Given the description of an element on the screen output the (x, y) to click on. 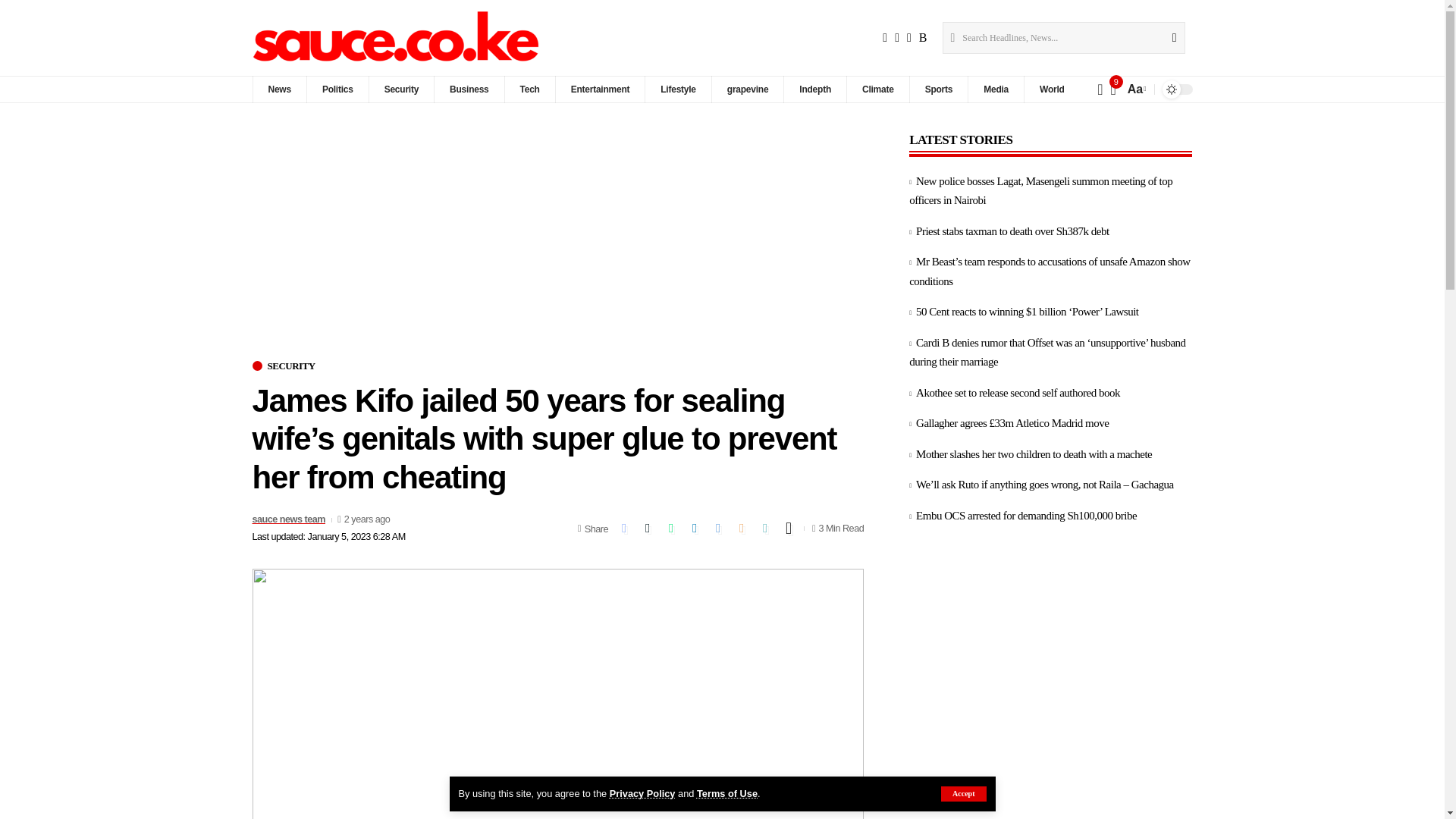
Sports (938, 89)
Lifestyle (678, 89)
Terms of Use (727, 793)
Business (468, 89)
Media (995, 89)
Indepth (814, 89)
Privacy Policy (642, 793)
Accept (962, 793)
Tech (528, 89)
sauce.co.ke (396, 37)
Climate (876, 89)
Advertisement (557, 246)
Entertainment (599, 89)
Politics (336, 89)
grapevine (747, 89)
